Given the description of an element on the screen output the (x, y) to click on. 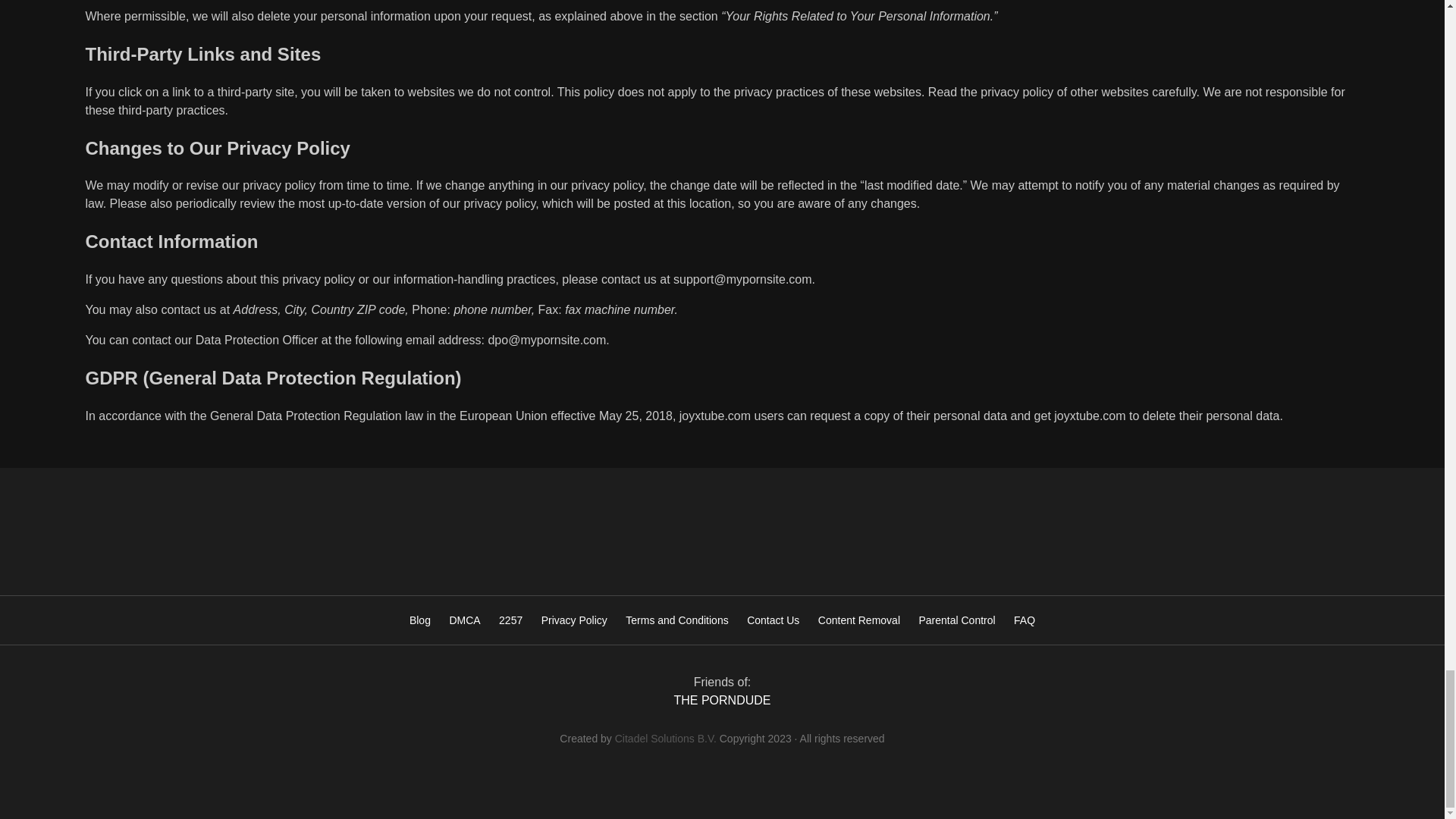
2257 (510, 620)
Contact Us (772, 620)
Content Removal (858, 620)
Citadel Solutions B.V. (665, 738)
Privacy Policy (574, 620)
Blog (419, 620)
Parental Control (956, 620)
THE PORNDUDE (721, 699)
DMCA (464, 620)
FAQ (1024, 620)
